Given the description of an element on the screen output the (x, y) to click on. 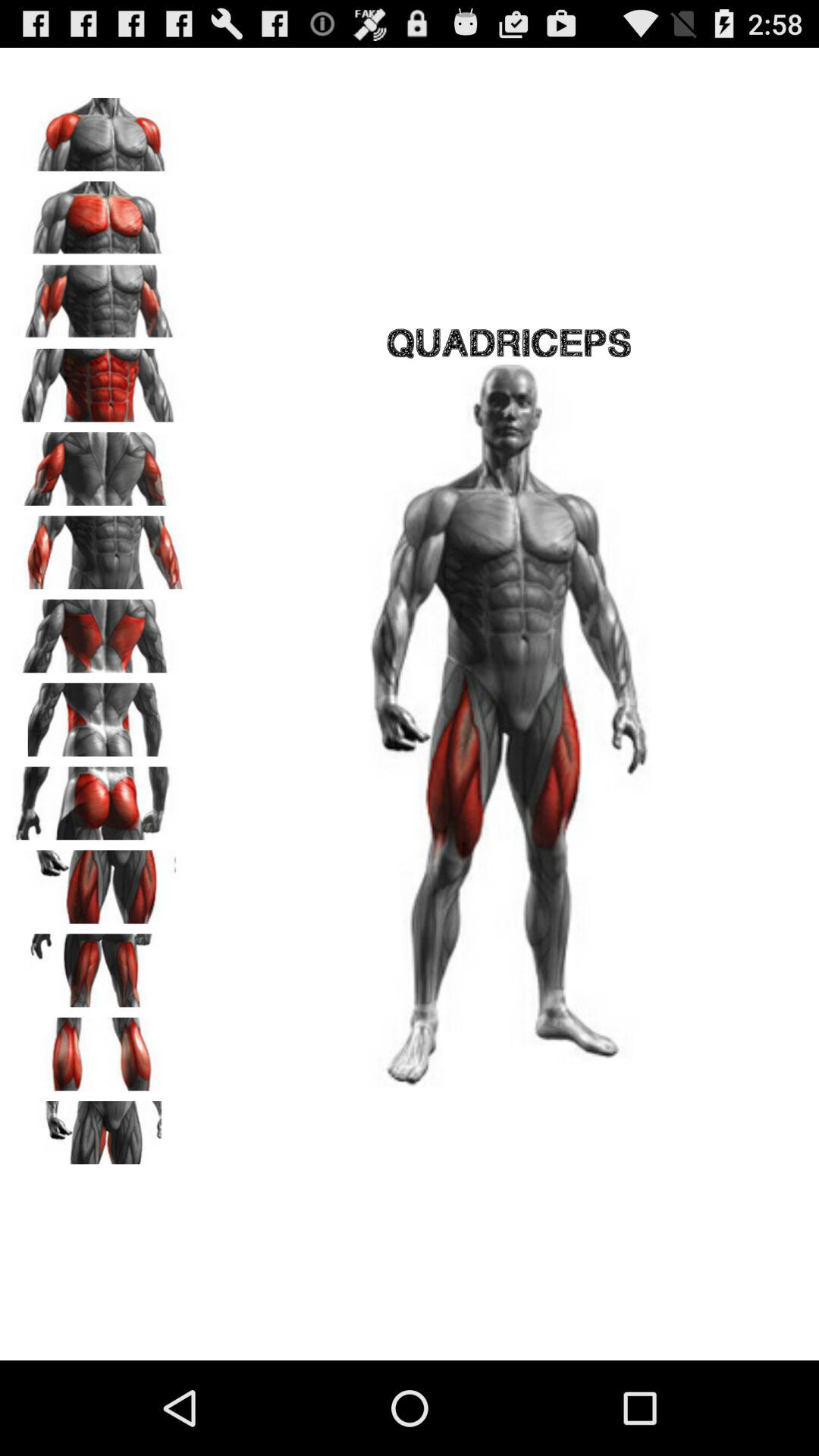
select side muscles image (99, 714)
